Given the description of an element on the screen output the (x, y) to click on. 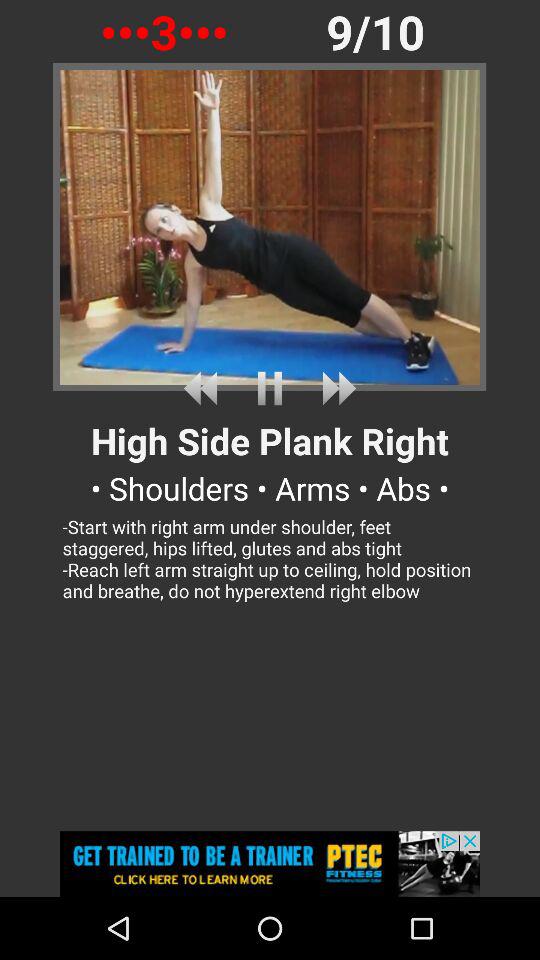
pause (269, 388)
